Given the description of an element on the screen output the (x, y) to click on. 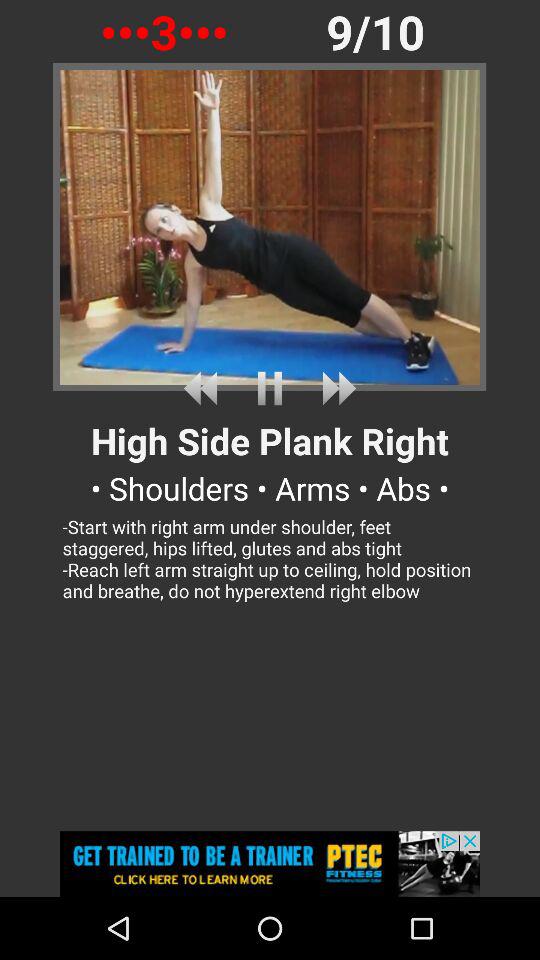
pause (269, 388)
